Given the description of an element on the screen output the (x, y) to click on. 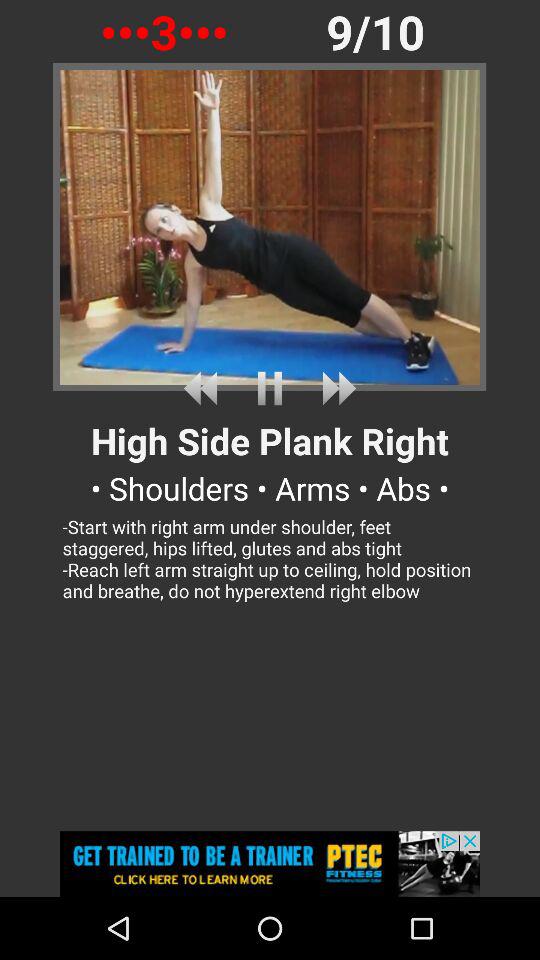
pause (269, 388)
